Given the description of an element on the screen output the (x, y) to click on. 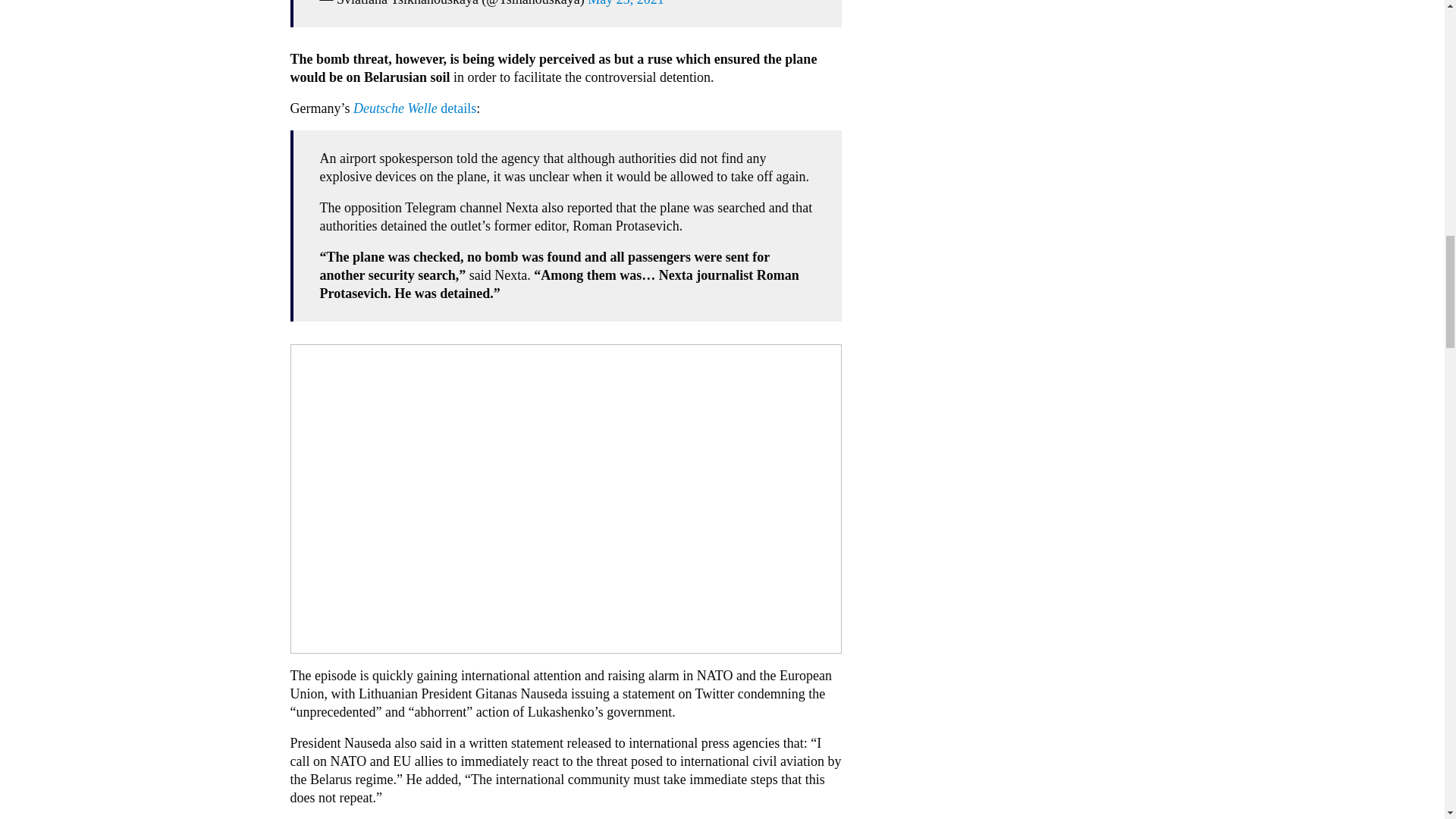
May 23, 2021 (625, 2)
Deutsche Welle details (414, 107)
